Given the description of an element on the screen output the (x, y) to click on. 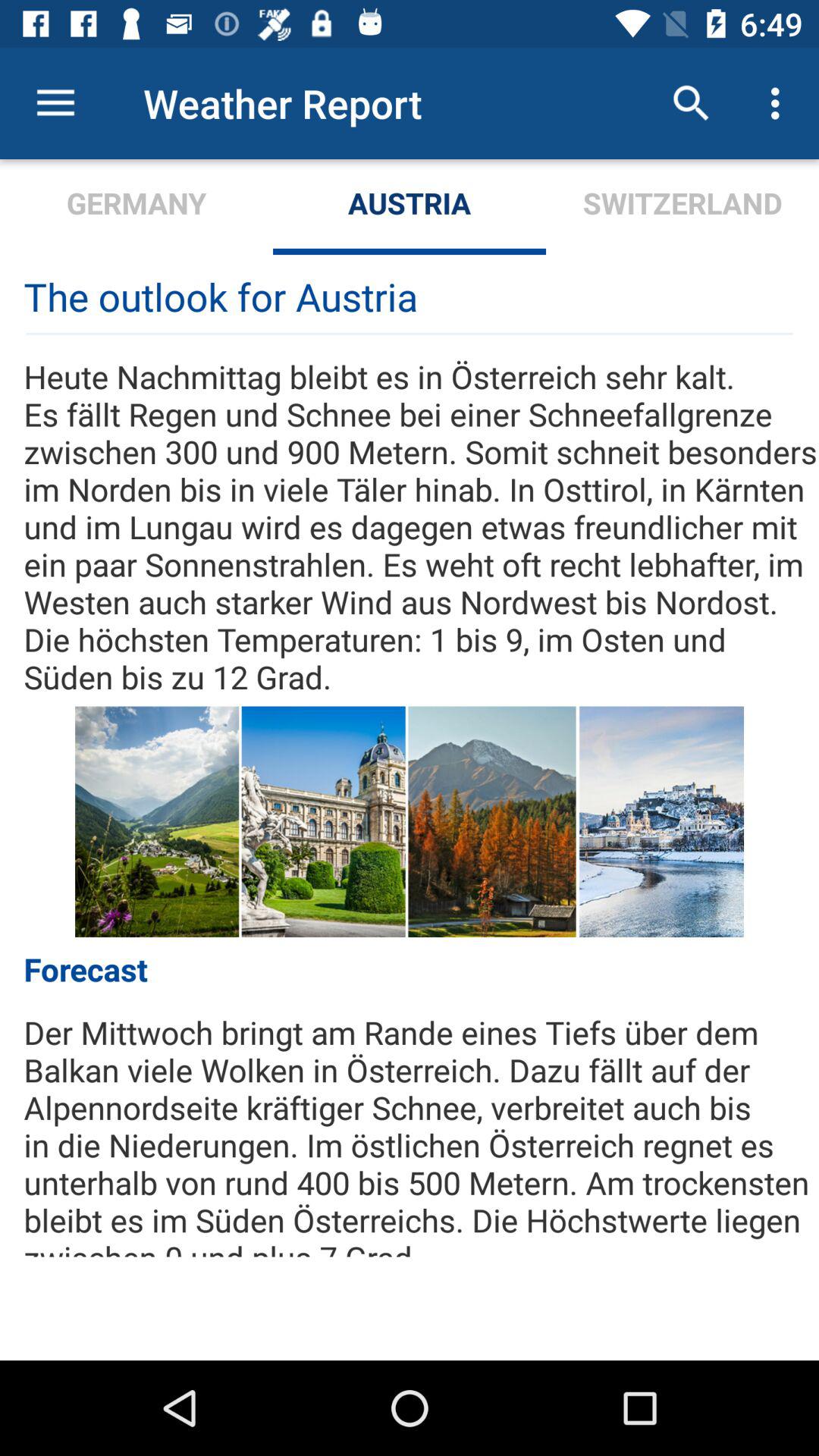
tap the item above switzerland icon (691, 103)
